Given the description of an element on the screen output the (x, y) to click on. 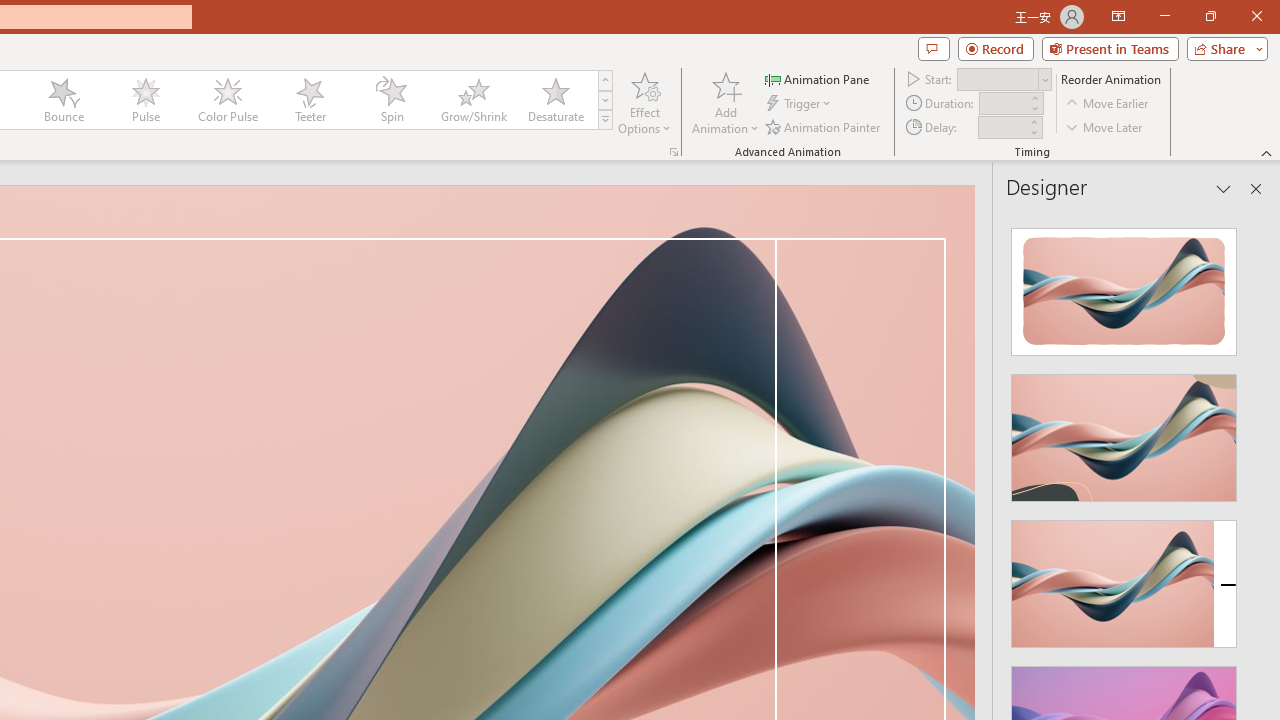
Spin (391, 100)
Bounce (63, 100)
Animation Styles (605, 120)
Recommended Design: Design Idea (1124, 286)
